Given the description of an element on the screen output the (x, y) to click on. 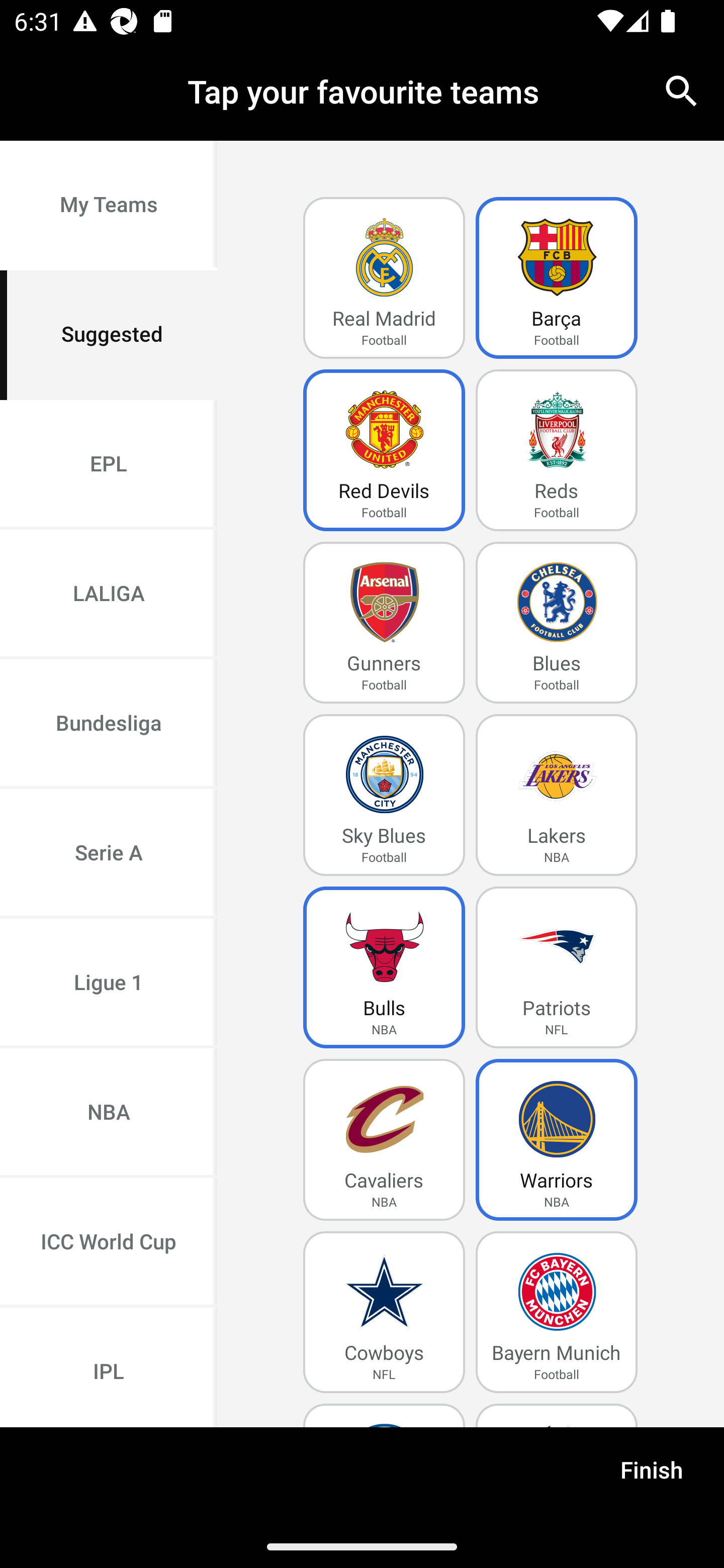
search (681, 90)
My Teams (108, 206)
Real Madrid Real Madrid Football (383, 278)
Barça BarçaSelected Football (556, 278)
Suggested (108, 334)
Red Devils Red DevilsSelected Football (383, 450)
Reds Reds Football (556, 450)
EPL (108, 464)
LALIGA (108, 594)
Gunners Gunners Football (383, 623)
Blues Blues Football (556, 623)
Bundesliga (108, 725)
Sky Blues Sky Blues Football (383, 794)
Lakers Lakers NBA (556, 794)
Serie A (108, 853)
Bulls BullsSelected NBA (383, 966)
Patriots Patriots NFL (556, 966)
Ligue 1 (108, 983)
NBA (108, 1113)
Cavaliers Cavaliers NBA (383, 1139)
Warriors WarriorsSelected NBA (556, 1139)
ICC World Cup (108, 1242)
Cowboys Cowboys NFL (383, 1311)
Bayern Munich Bayern Munich Football (556, 1311)
IPL (108, 1366)
Finish Finish and Close (651, 1475)
